Given the description of an element on the screen output the (x, y) to click on. 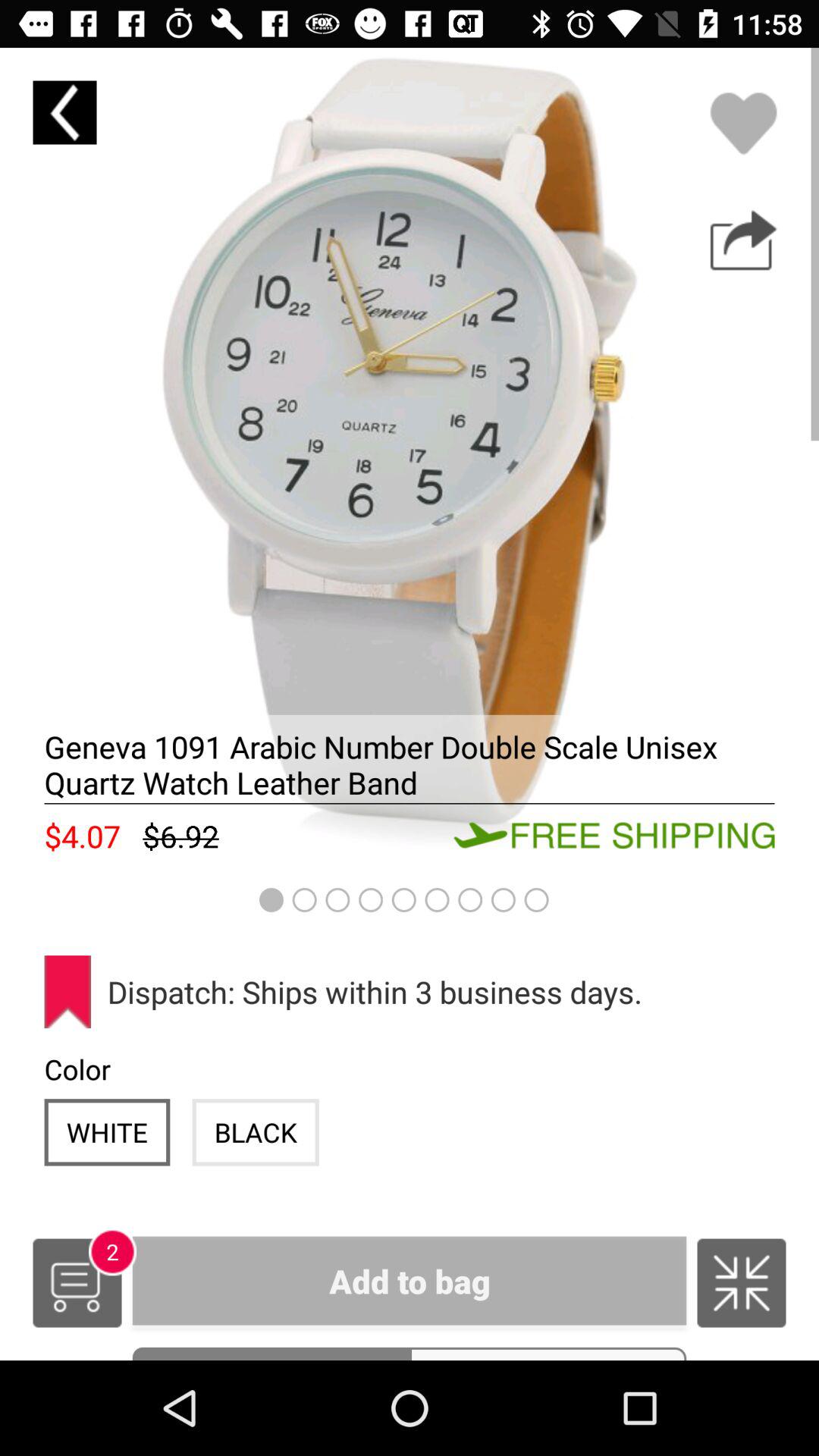
select english language (741, 1282)
